Given the description of an element on the screen output the (x, y) to click on. 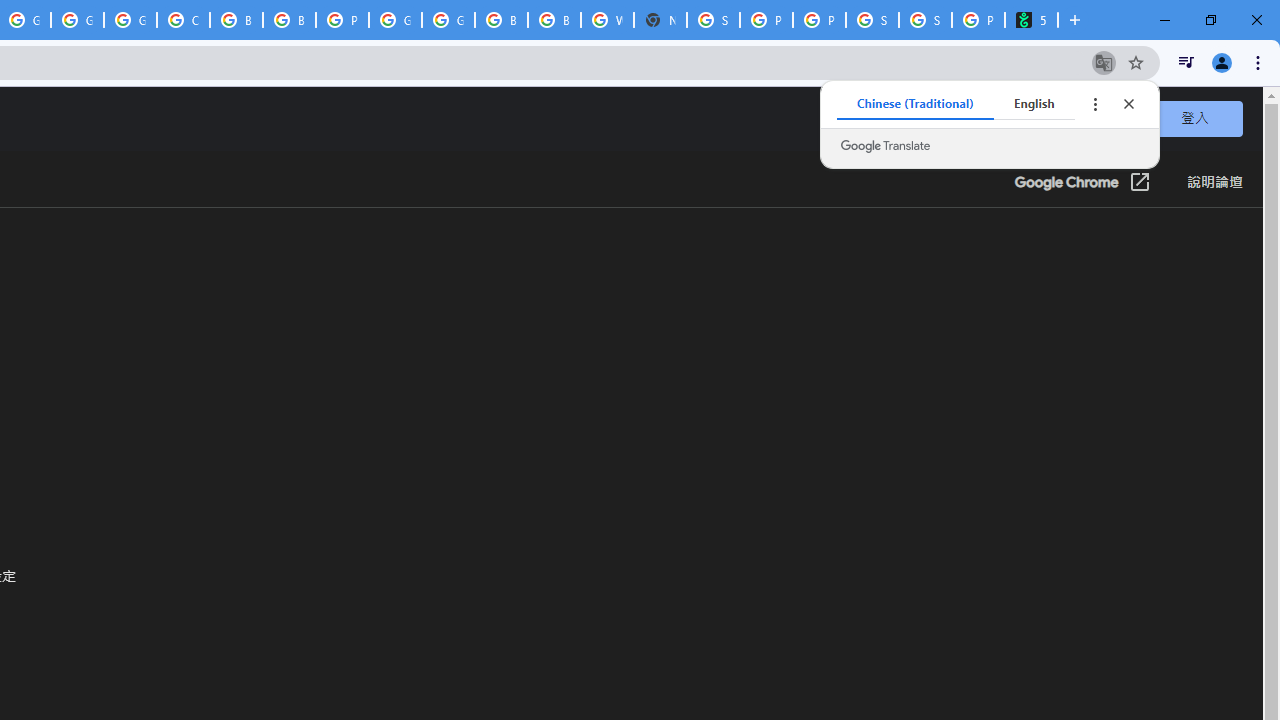
English (1034, 103)
